Given the description of an element on the screen output the (x, y) to click on. 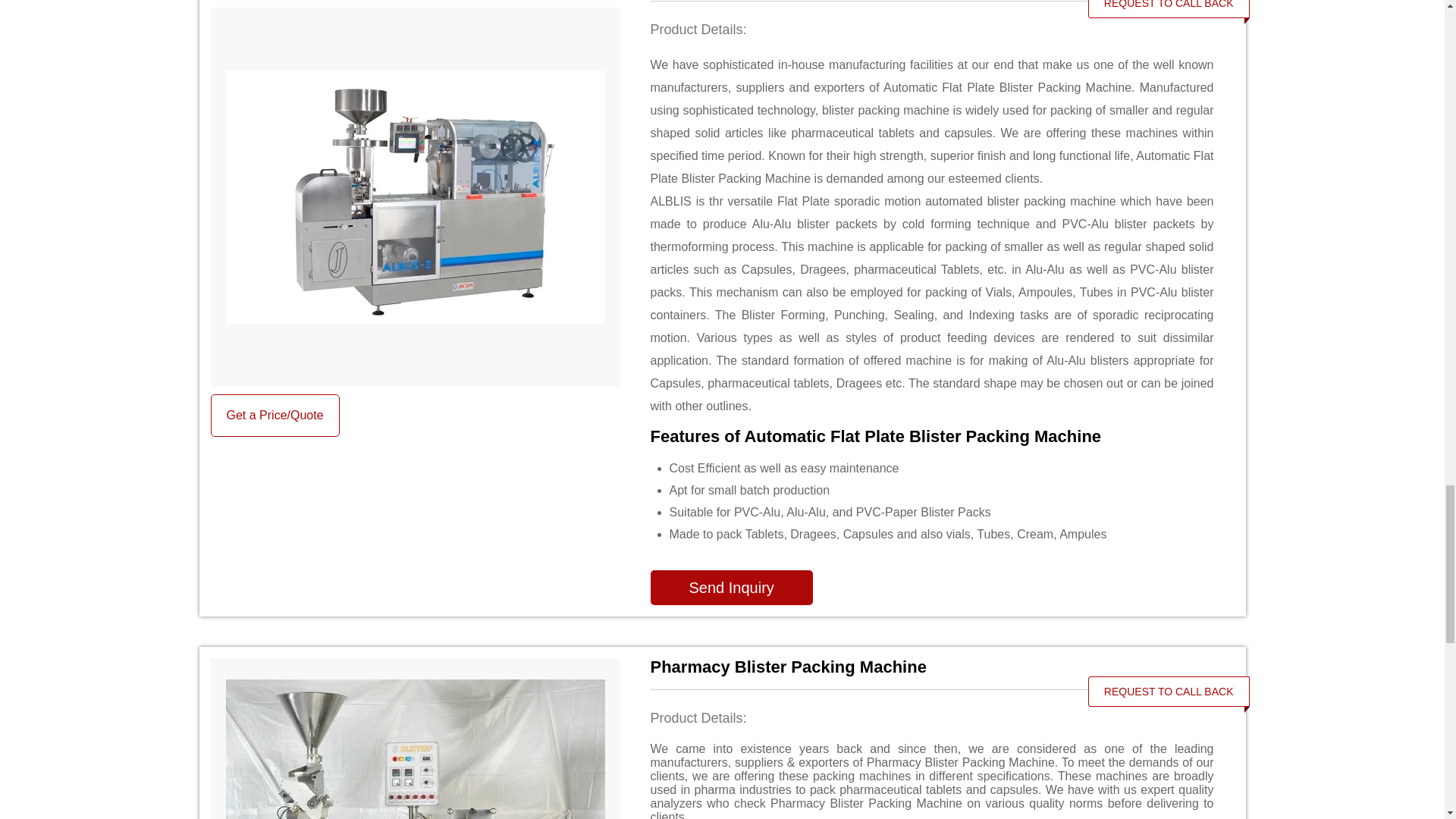
Pharmacy Blister Packing Machine (932, 667)
